Given the description of an element on the screen output the (x, y) to click on. 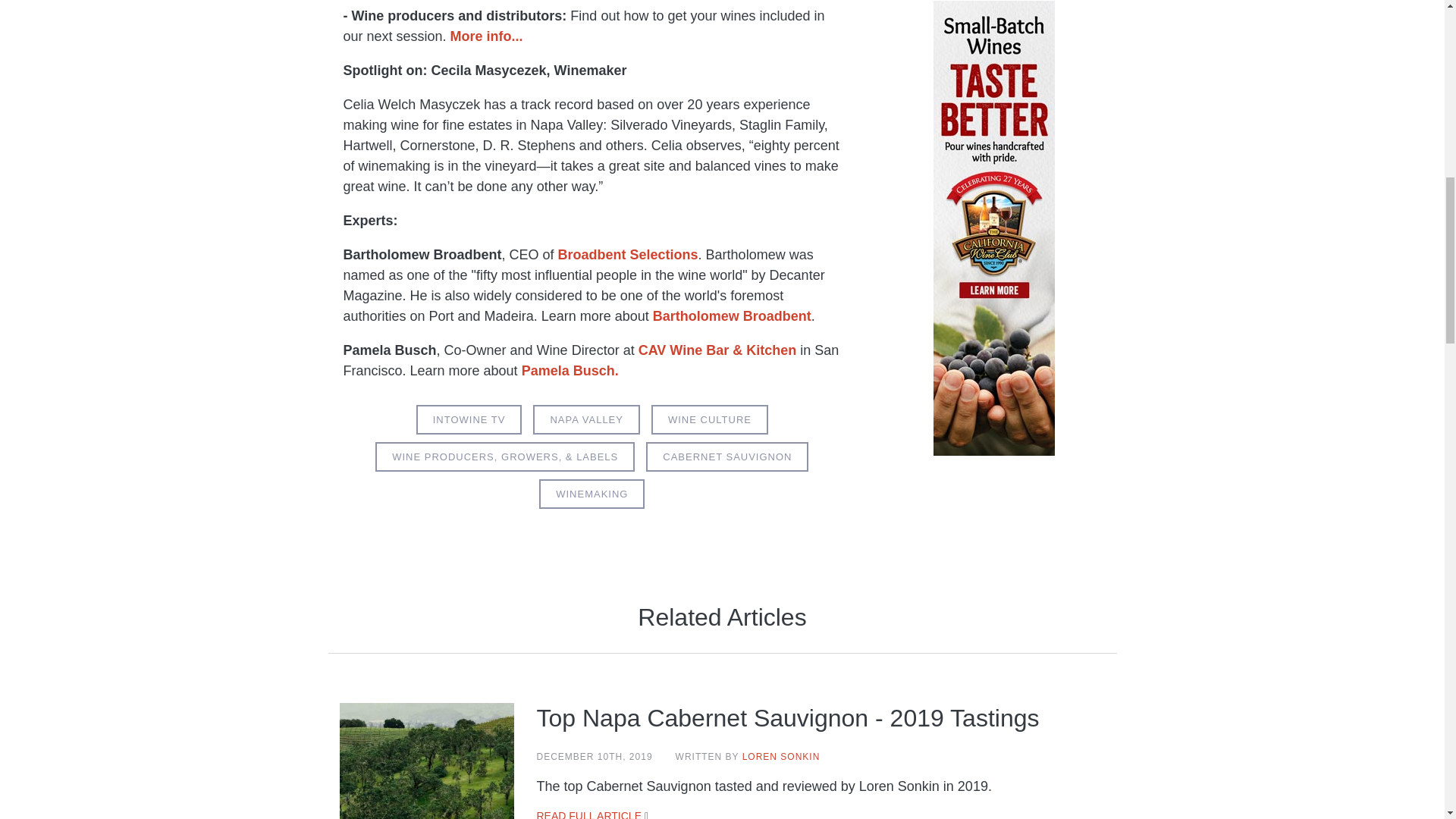
CABERNET SAUVIGNON (727, 456)
INTOWINE TV (469, 419)
Pamela Busch. (569, 370)
View user profile. (781, 756)
Top Napa Cabernet Sauvignon - 2019 Tastings (788, 718)
READ FULL ARTICLE (589, 814)
LOREN SONKIN (781, 756)
WINEMAKING (591, 493)
NAPA VALLEY (586, 419)
WINE CULTURE (709, 419)
Bartholomew Broadbent (731, 315)
More info... (485, 36)
Broadbent Selections (627, 254)
